Given the description of an element on the screen output the (x, y) to click on. 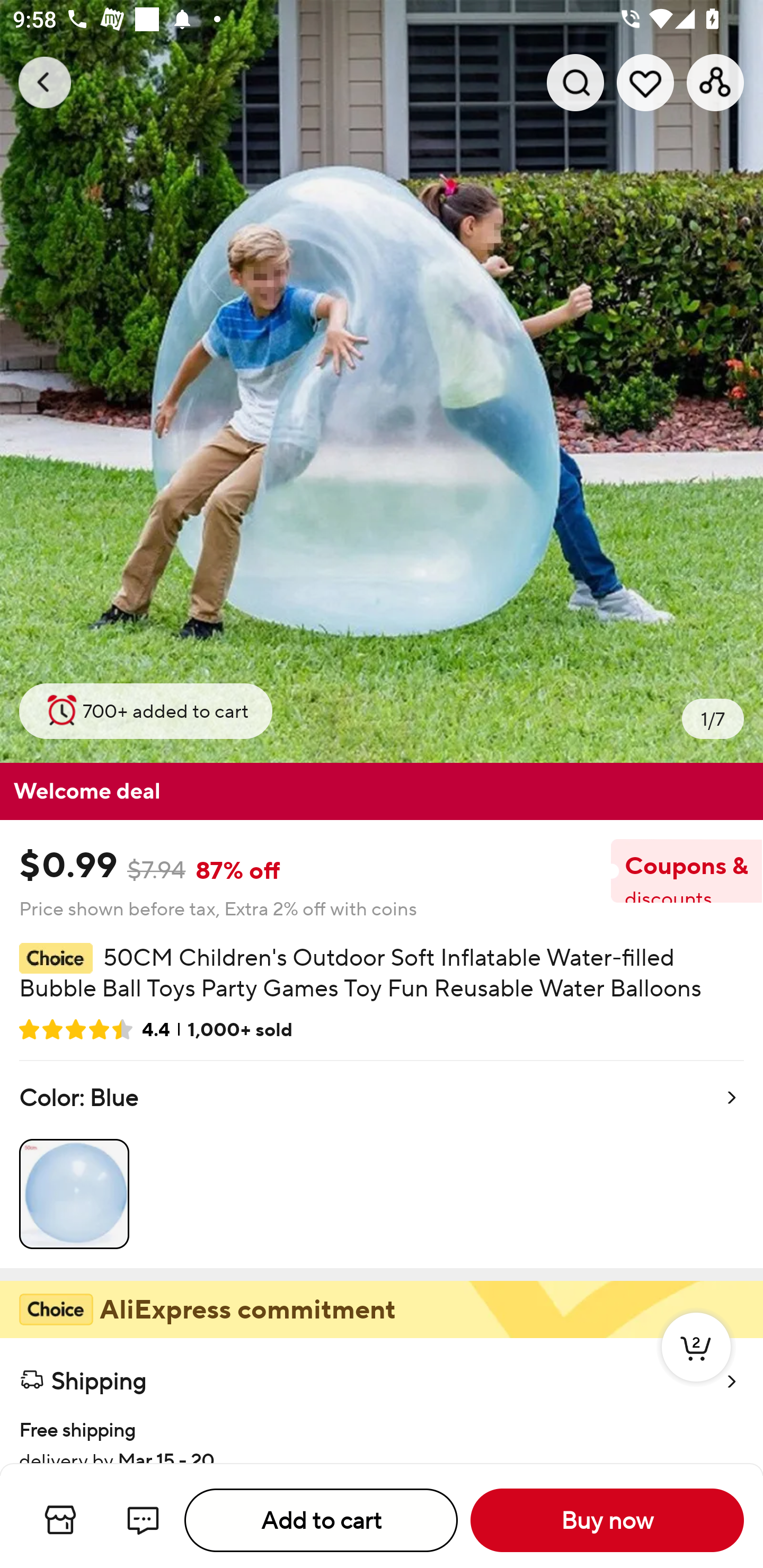
Navigate up (44, 82)
Color: Blue  (381, 1164)
2 (695, 1366)
Shipping  Free shipping  delivery by Mar 15 - 20  (381, 1399)
Free shipping  delivery by Mar 15 - 20  (381, 1431)
Add to cart (320, 1520)
Buy now (606, 1520)
